Given the description of an element on the screen output the (x, y) to click on. 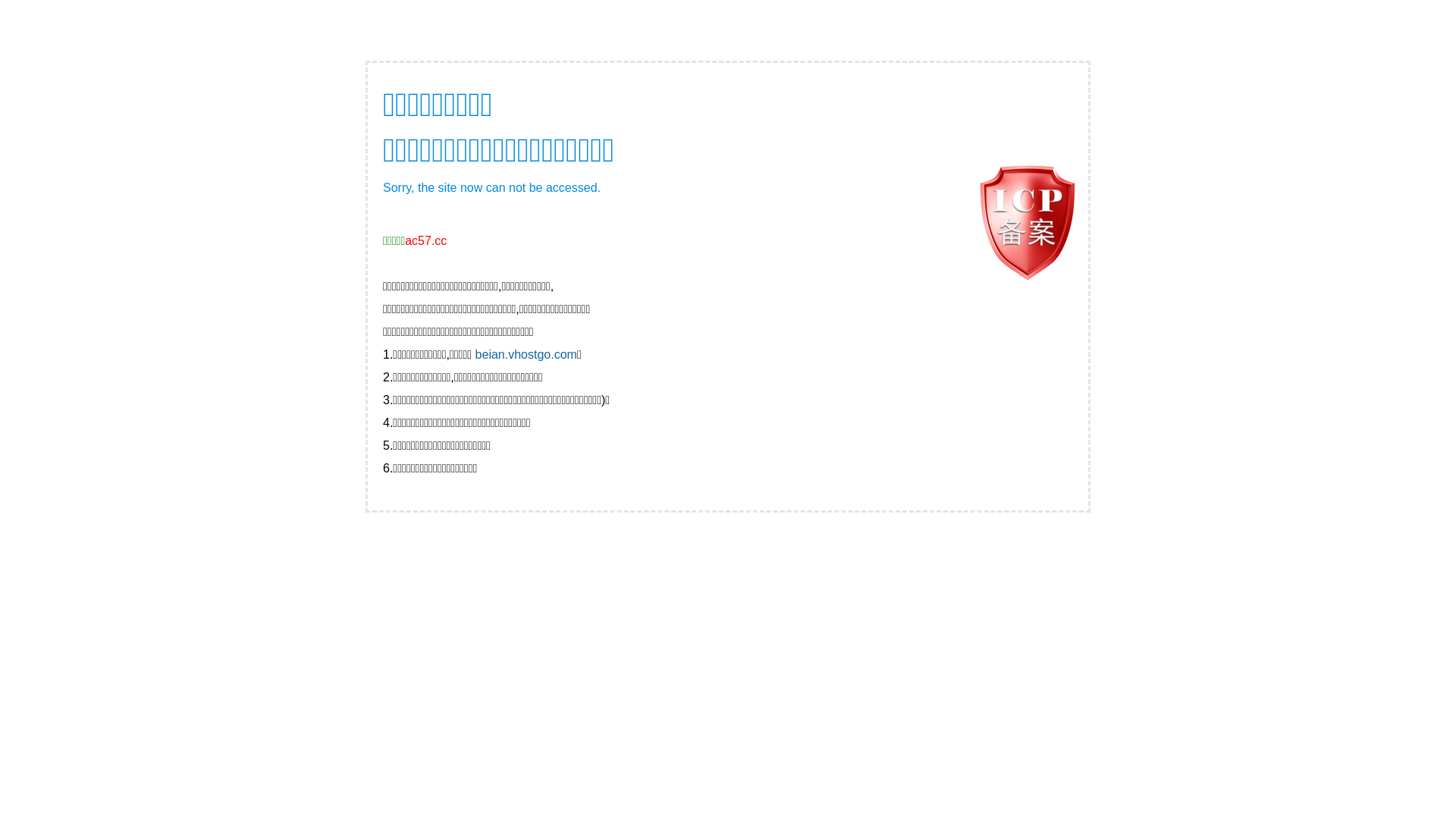
beian.vhostgo.com Element type: text (526, 354)
